Given the description of an element on the screen output the (x, y) to click on. 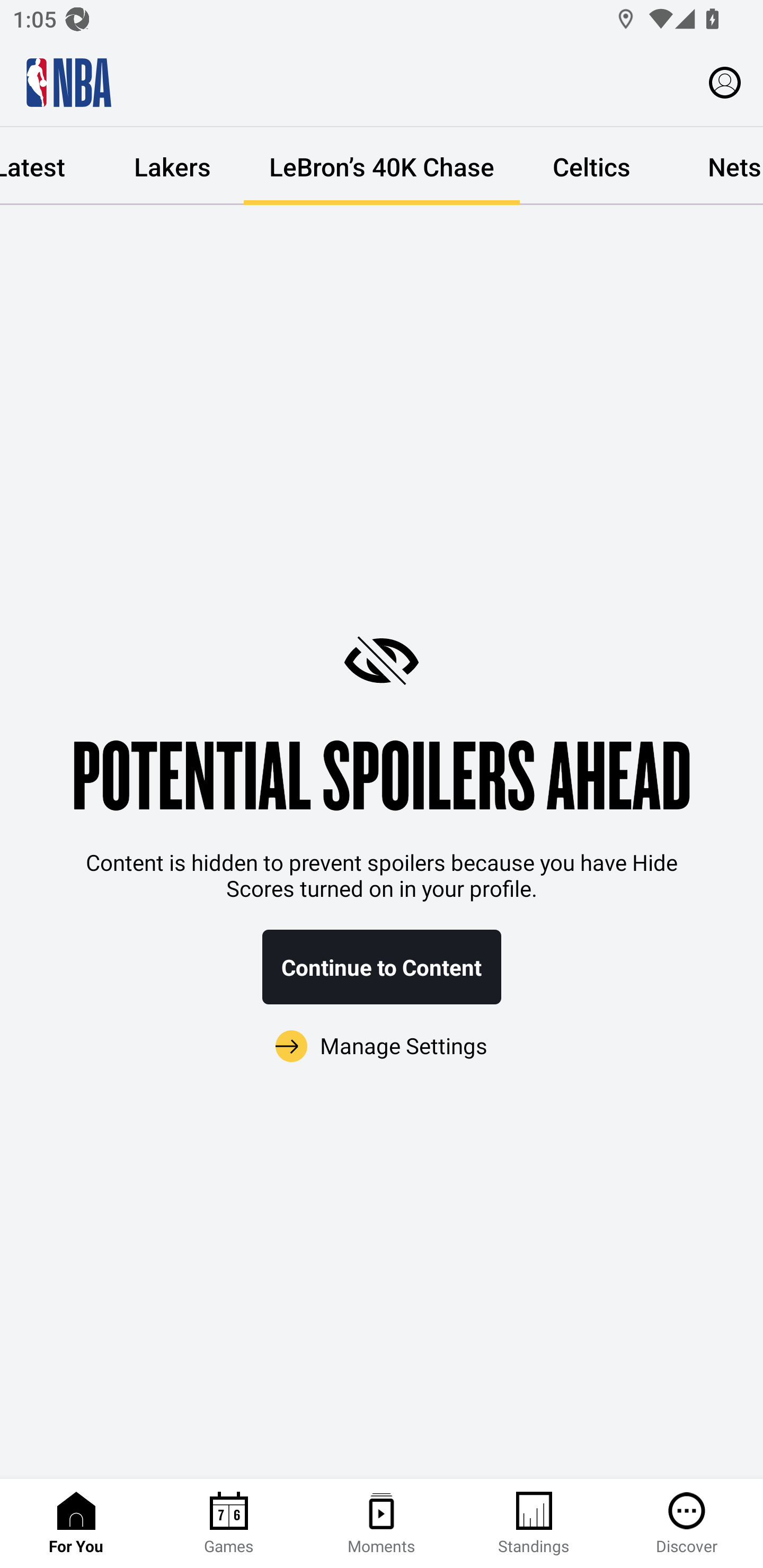
Profile (724, 81)
Lakers (171, 166)
Celtics (591, 166)
Continue to Content (381, 967)
Manage Settings (381, 1046)
Games (228, 1523)
Moments (381, 1523)
Standings (533, 1523)
Discover (686, 1523)
